Given the description of an element on the screen output the (x, y) to click on. 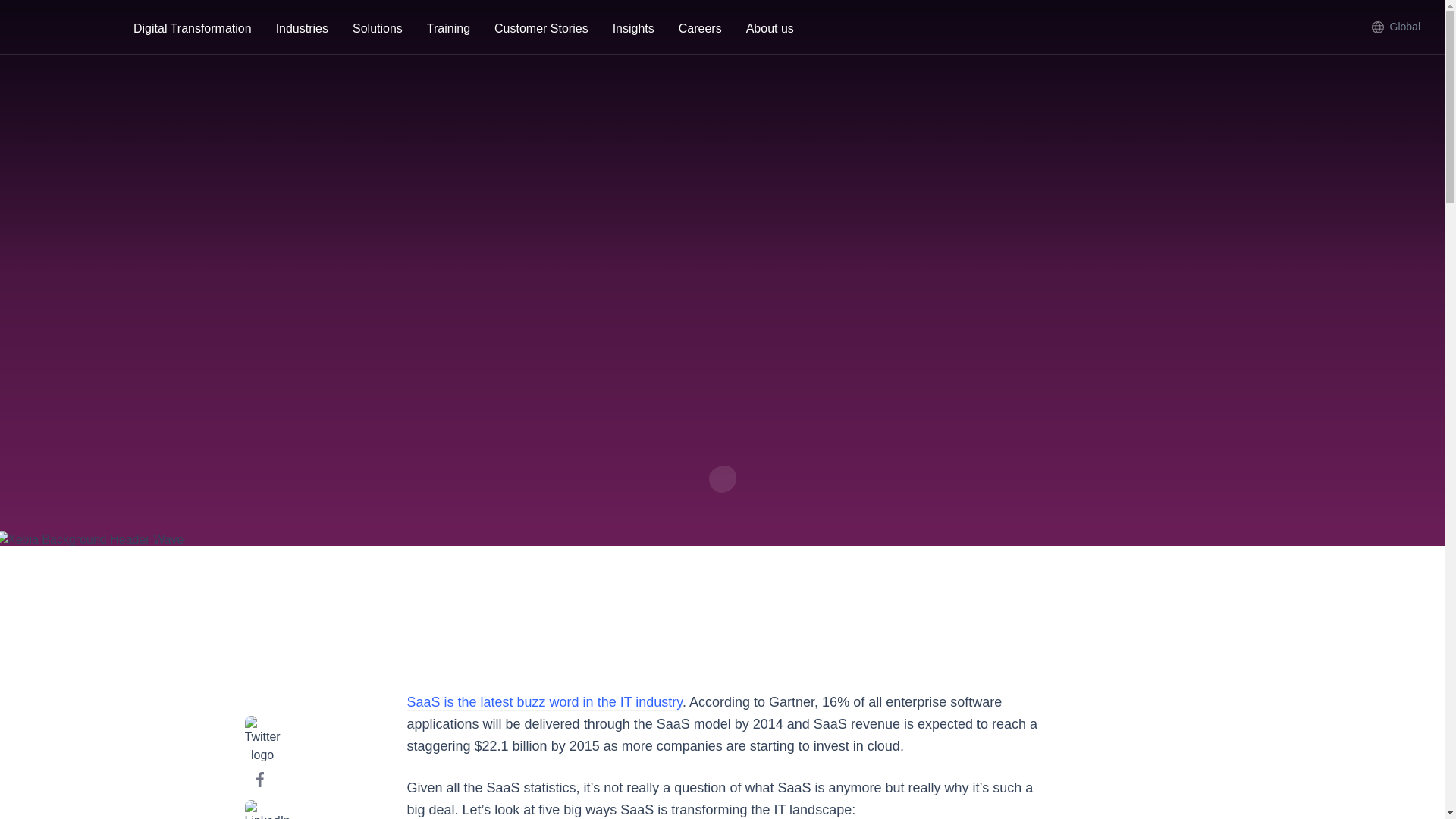
Solutions (377, 29)
Training (447, 29)
SaaS is the latest buzz word in the IT industry (544, 702)
Careers (699, 29)
Insights (632, 29)
Industries (301, 29)
About us (769, 29)
Customer Stories (540, 29)
Digital Transformation (191, 29)
